Given the description of an element on the screen output the (x, y) to click on. 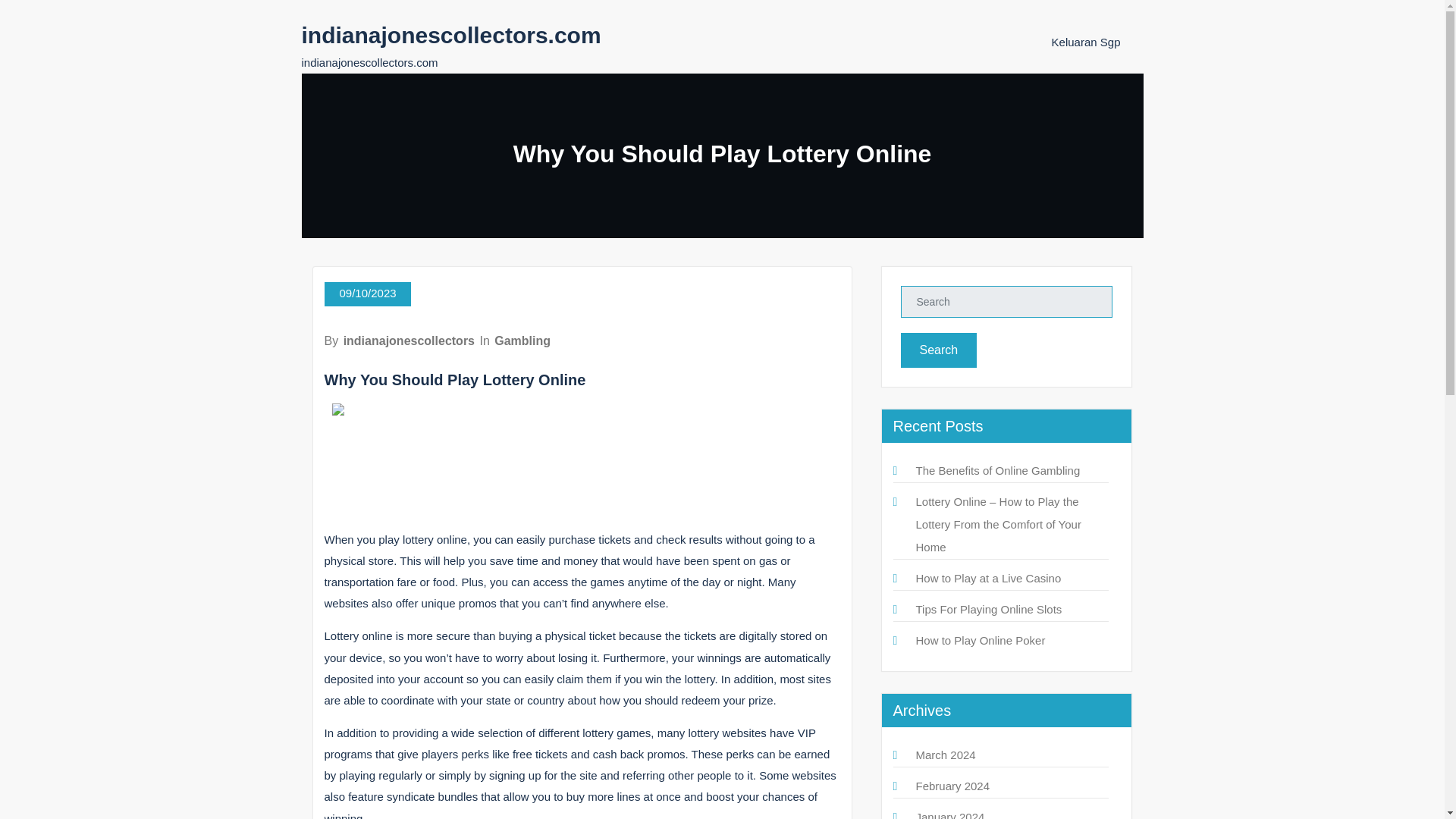
Search (938, 349)
January 2024 (950, 814)
The Benefits of Online Gambling (997, 470)
How to Play at a Live Casino (988, 577)
Keluaran Sgp (1086, 41)
How to Play Online Poker (980, 640)
March 2024 (945, 754)
Tips For Playing Online Slots (988, 608)
Gambling (522, 340)
indianajonescollectors (409, 340)
indianajonescollectors.com (451, 34)
February 2024 (952, 785)
